Given the description of an element on the screen output the (x, y) to click on. 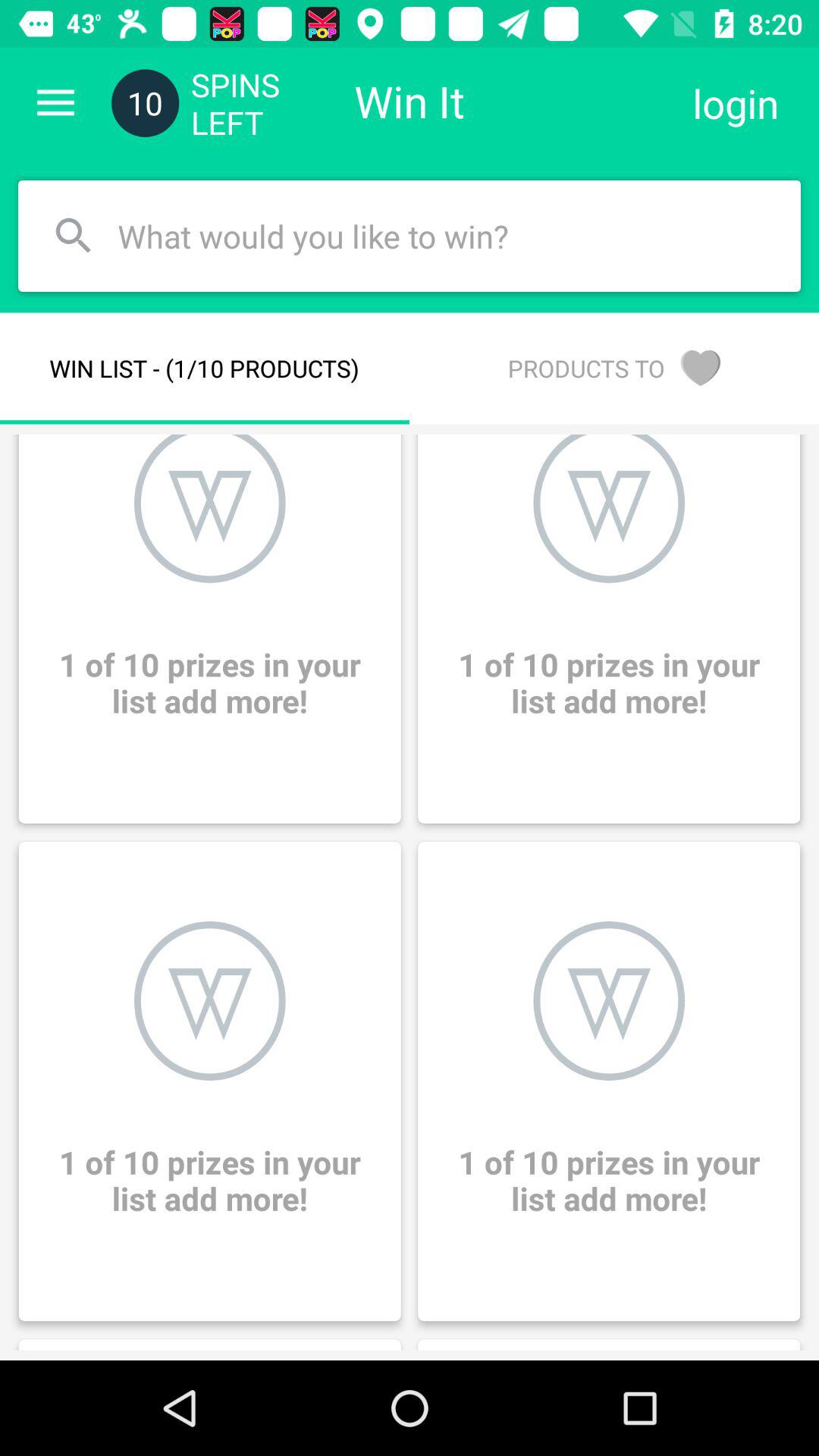
turn off icon above products to  icon (735, 102)
